Given the description of an element on the screen output the (x, y) to click on. 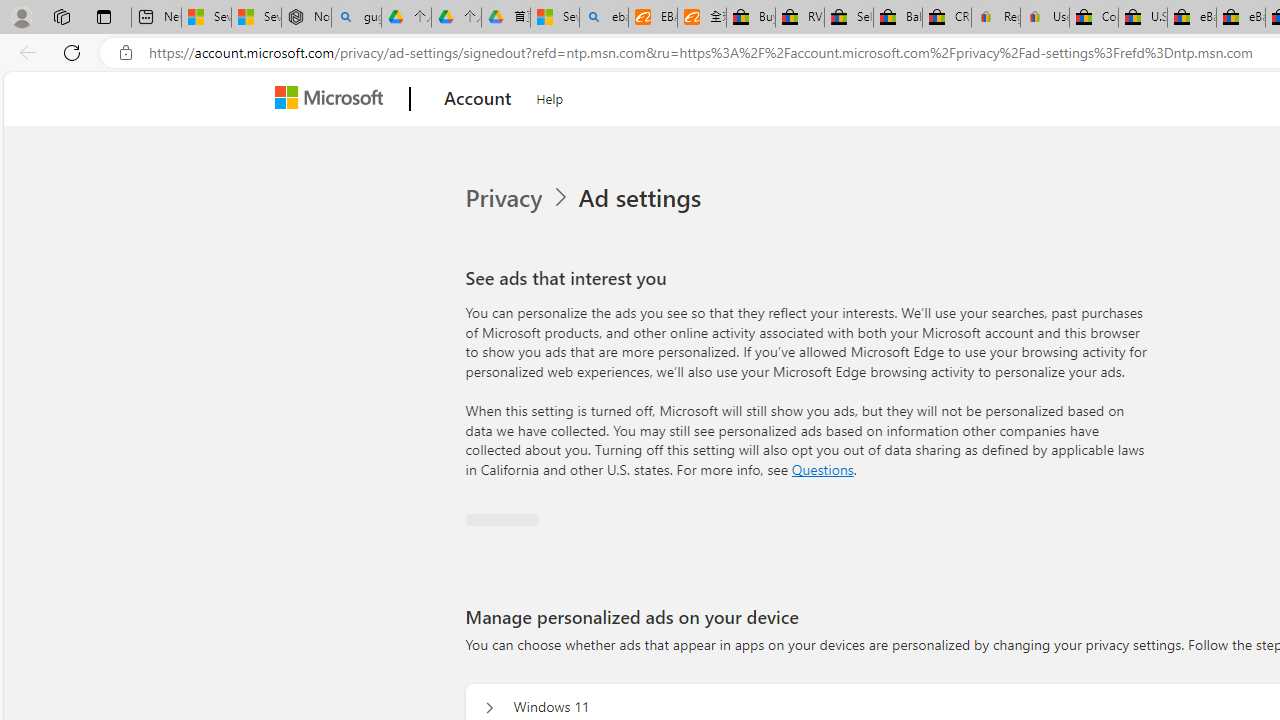
User Privacy Notice | eBay (1044, 17)
